Given the description of an element on the screen output the (x, y) to click on. 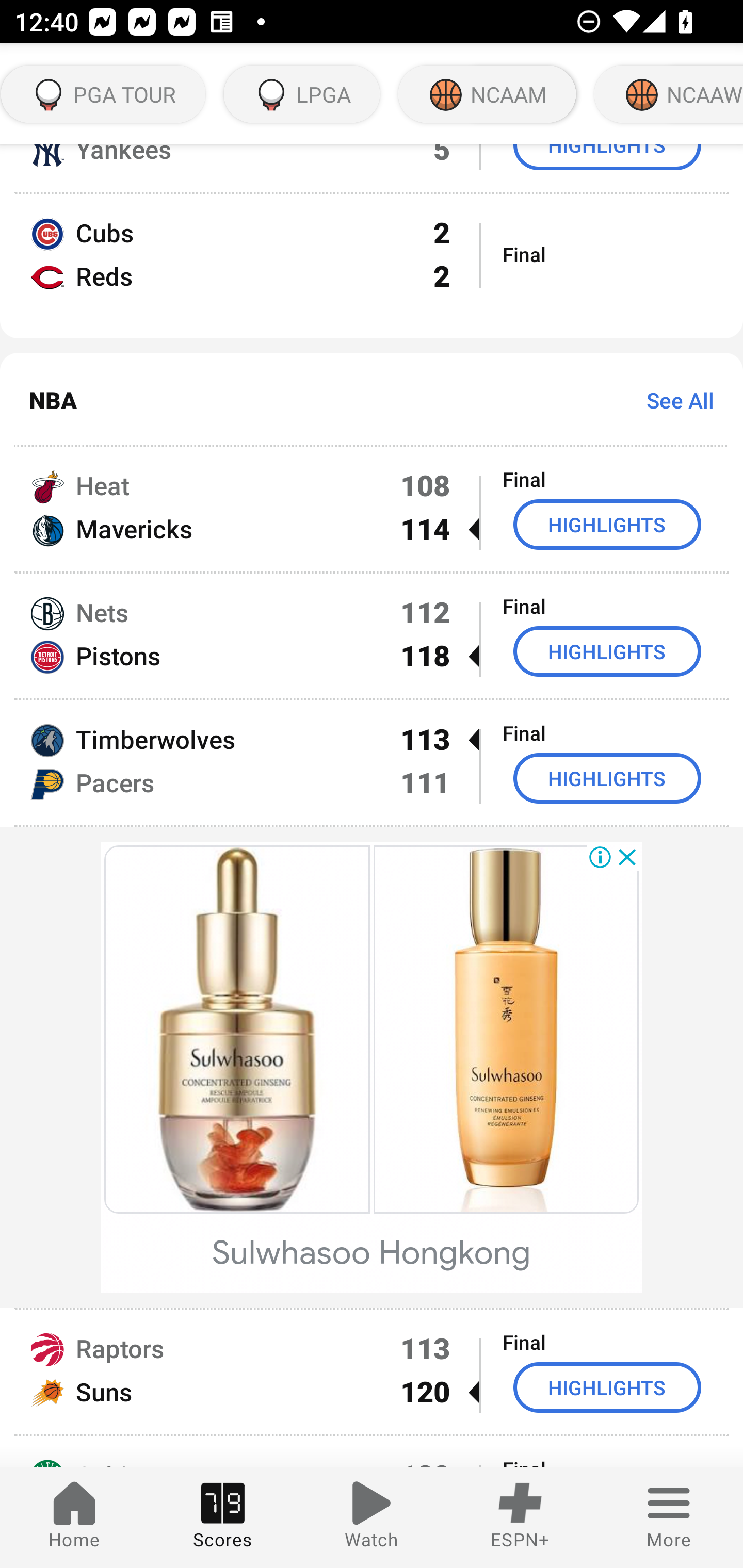
PGA TOUR (104, 93)
LPGA (301, 93)
NCAAM (486, 93)
NCAAW (666, 93)
Cubs 2 Reds 2 Final (371, 266)
NBA See All (371, 399)
See All (673, 399)
Heat 108 Final Mavericks 114  HIGHLIGHTS (371, 508)
HIGHLIGHTS (607, 524)
Nets 112 Final Pistons 118  HIGHLIGHTS (371, 635)
HIGHLIGHTS (607, 651)
Timberwolves 113  Final Pacers 111 HIGHLIGHTS (371, 762)
HIGHLIGHTS (607, 777)
Sulwhasoo Hongkong (371, 1253)
Raptors 113 Final Suns 120  HIGHLIGHTS (371, 1371)
HIGHLIGHTS (607, 1387)
Home (74, 1517)
Watch (371, 1517)
ESPN+ (519, 1517)
More (668, 1517)
